Given the description of an element on the screen output the (x, y) to click on. 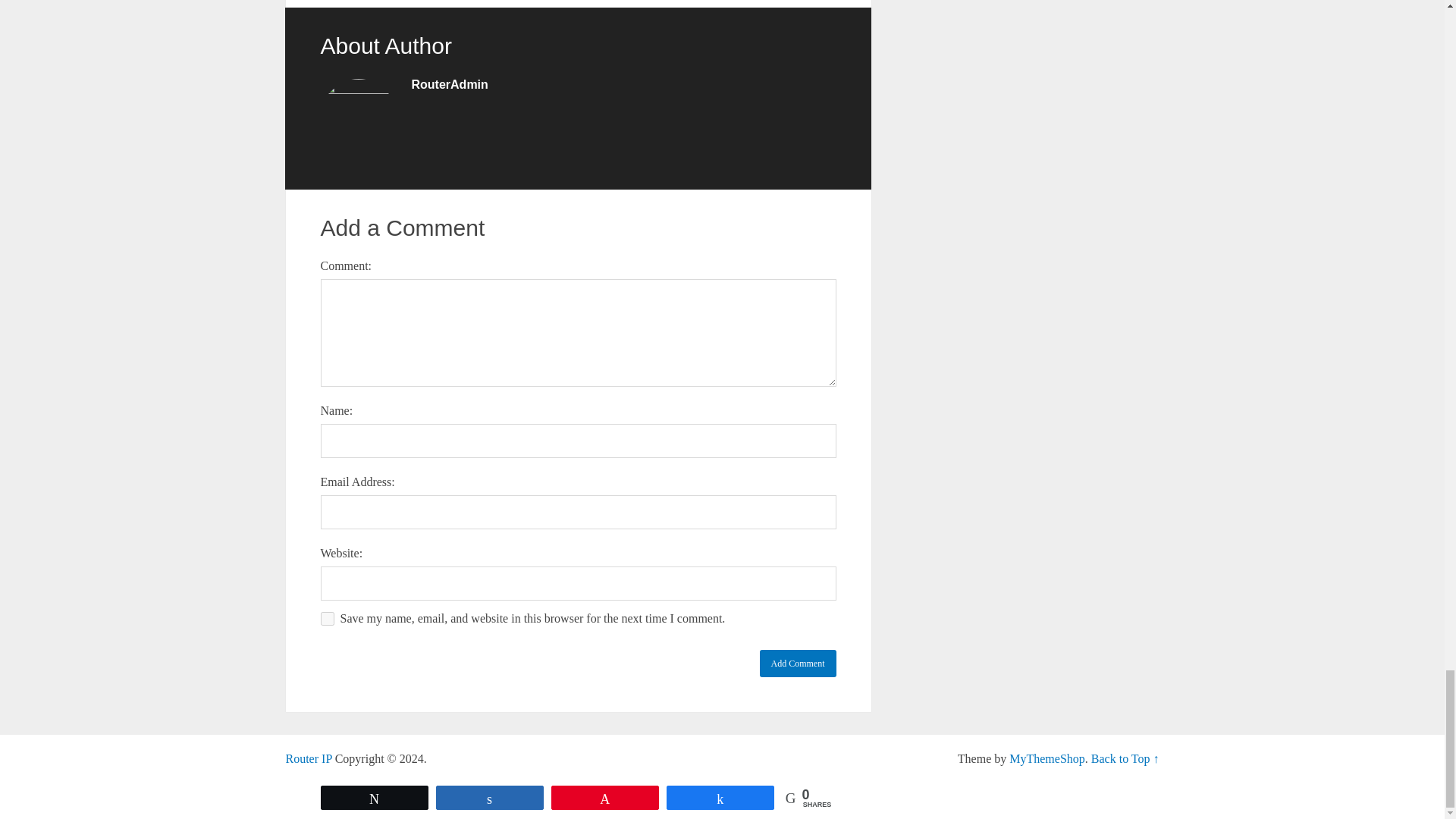
yes (326, 618)
Add Comment (797, 663)
Router Logins Information (308, 758)
Add Comment (797, 663)
